Given the description of an element on the screen output the (x, y) to click on. 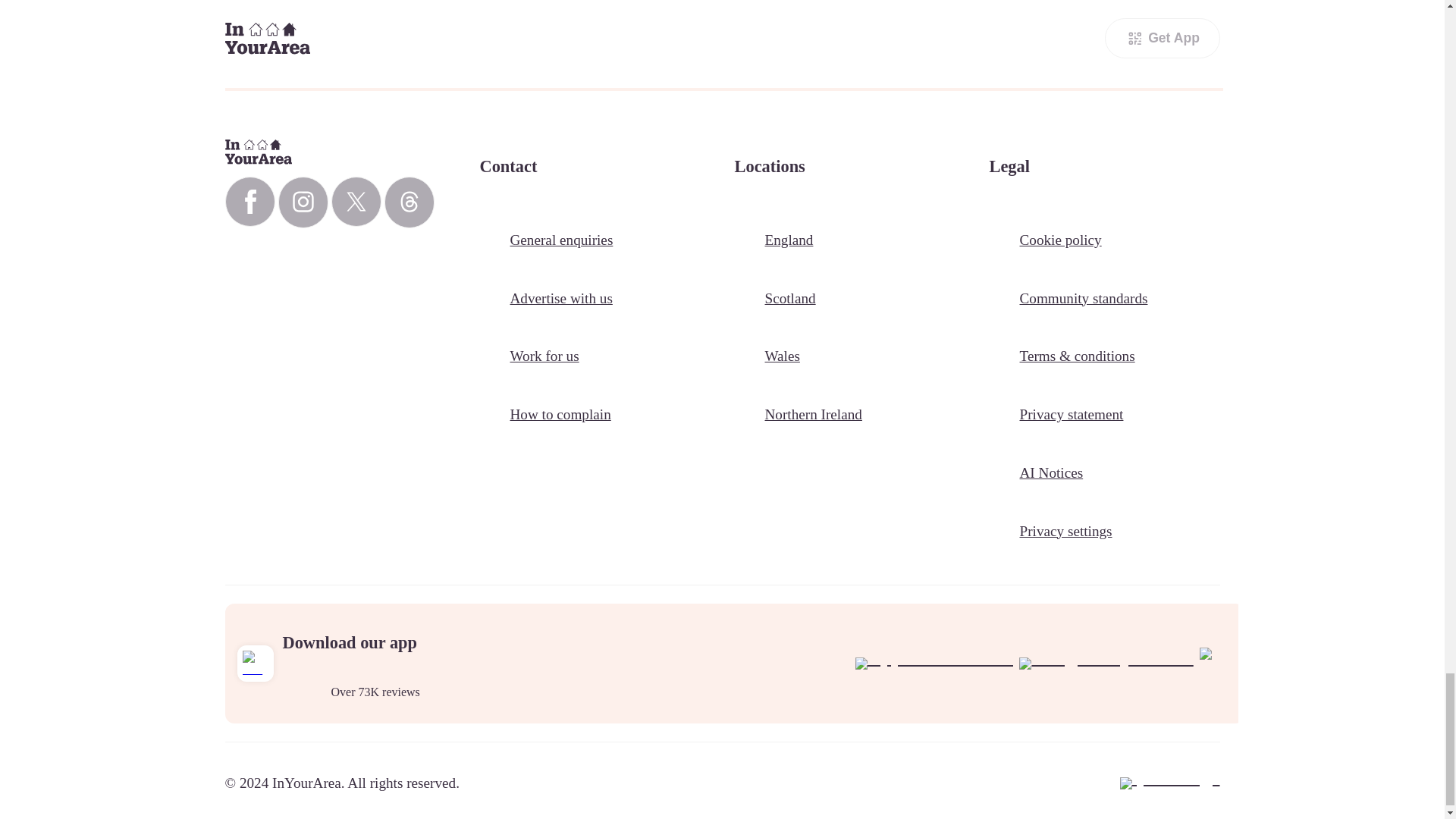
InYourArea Threads (408, 202)
InYourArea Instagram (302, 202)
InYourArea Facebook (249, 201)
InYourArea X (355, 201)
